Given the description of an element on the screen output the (x, y) to click on. 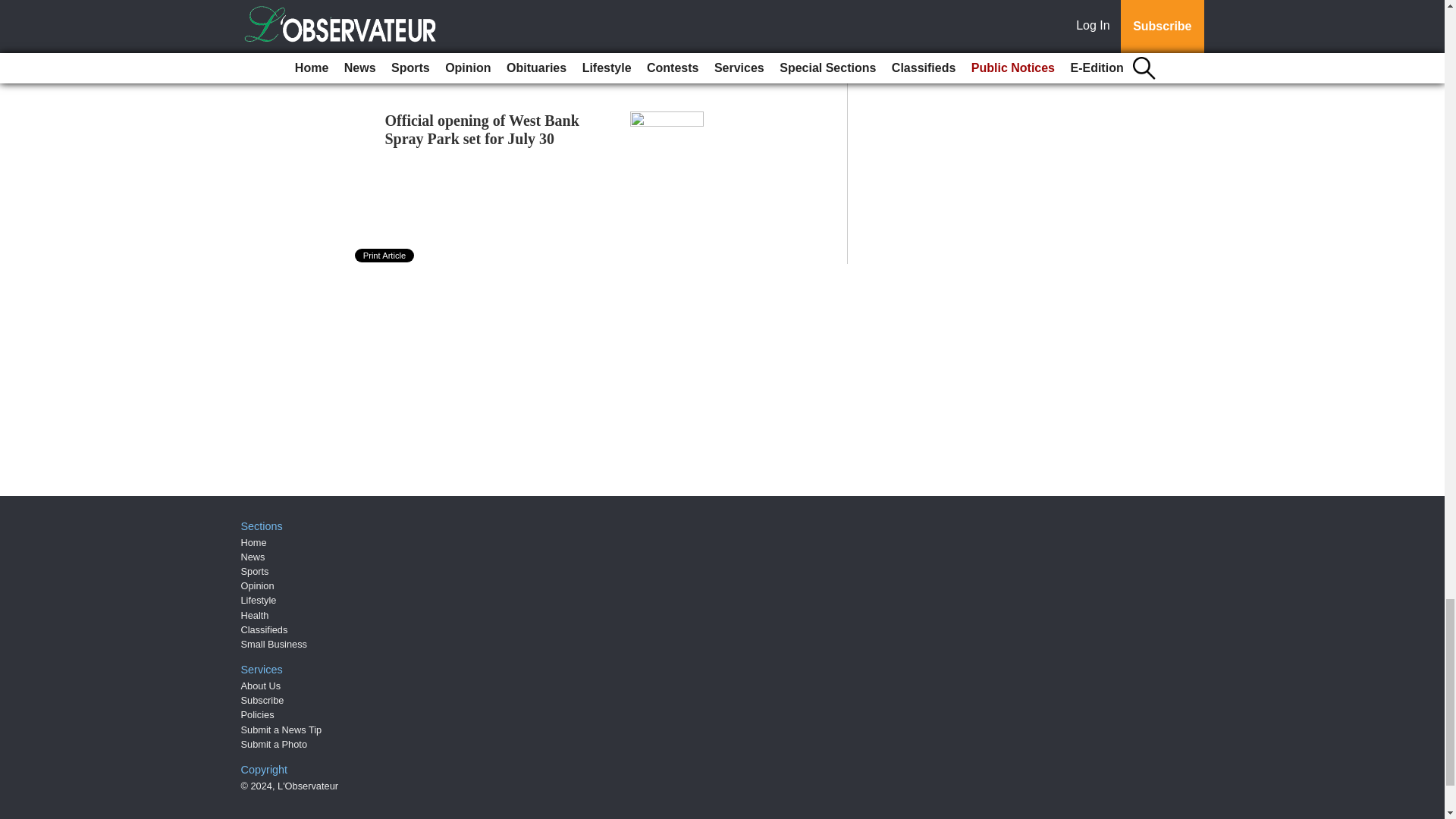
Print Article (384, 255)
Official opening of West Bank Spray Park set for July 30 (482, 129)
Official opening of West Bank Spray Park set for July 30 (482, 129)
